Given the description of an element on the screen output the (x, y) to click on. 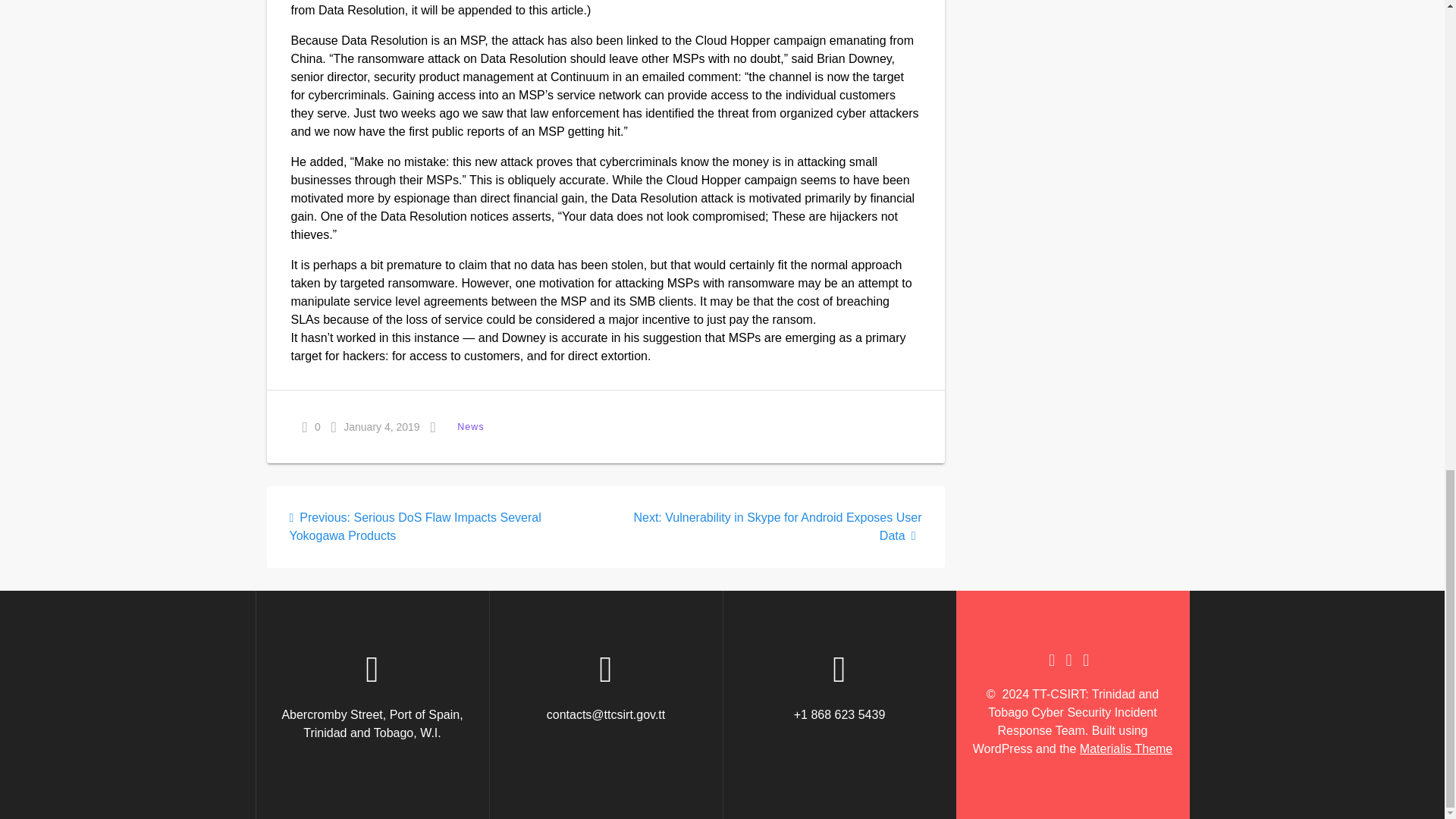
0 (310, 426)
News (470, 426)
January 4, 2019 (375, 426)
